Given the description of an element on the screen output the (x, y) to click on. 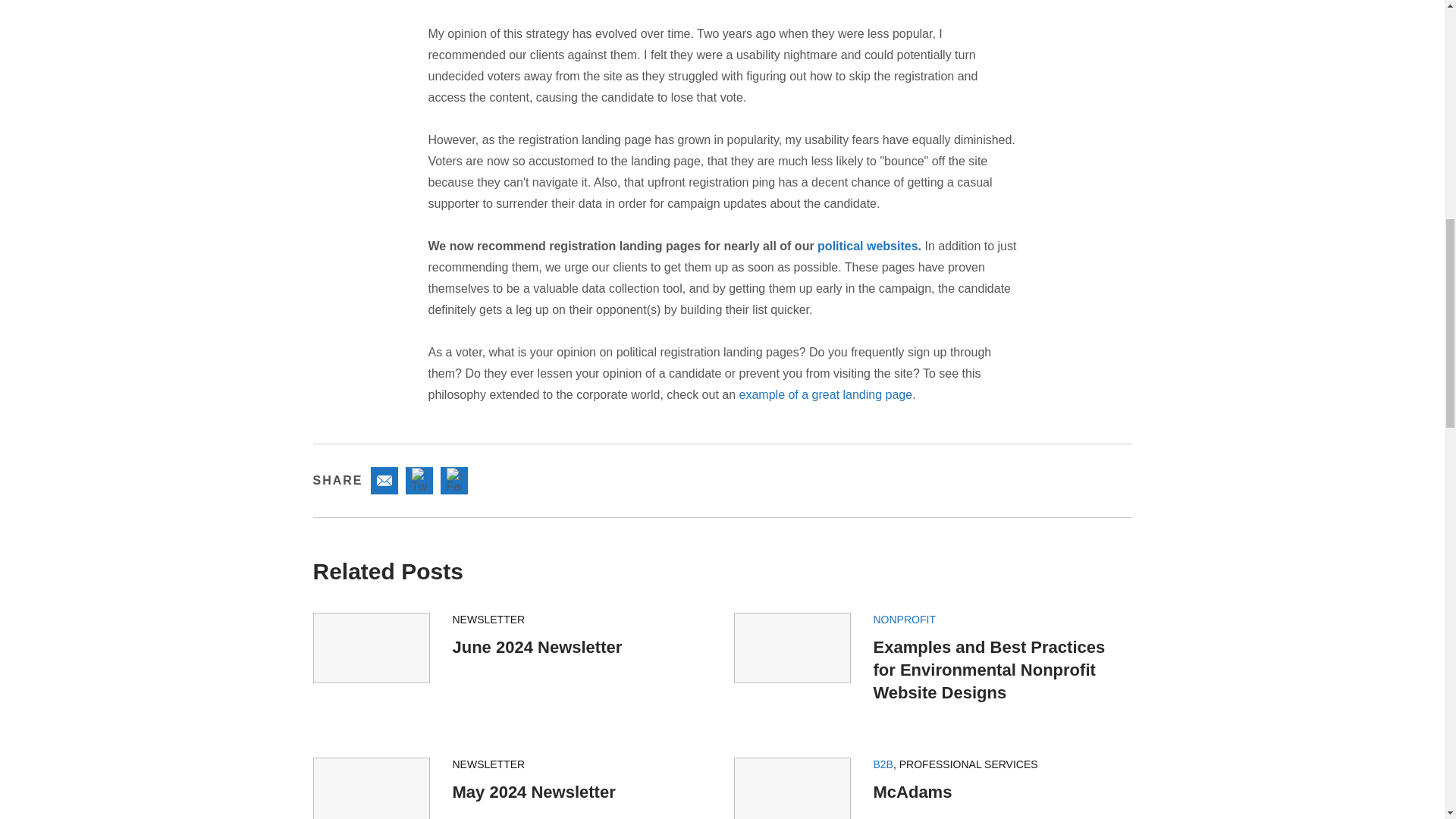
B2B (883, 764)
NONPROFIT (904, 619)
June 2024 Newsletter (536, 647)
political websites (866, 245)
example of a great landing page (825, 394)
May 2024 Newsletter (532, 791)
McAdams (912, 791)
